Given the description of an element on the screen output the (x, y) to click on. 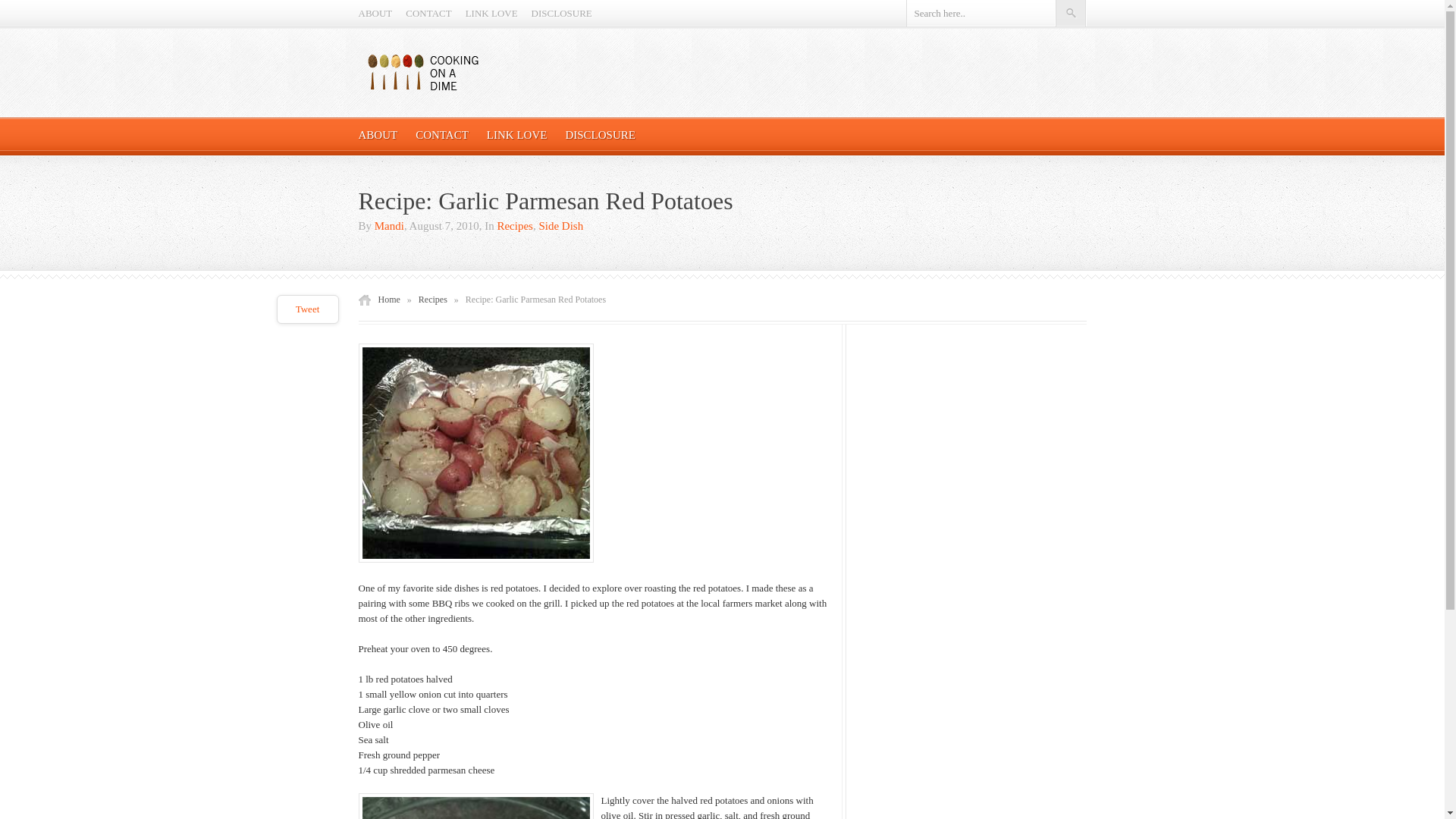
Recipes (514, 225)
garlic-red-potatoes (475, 806)
CONTACT (441, 134)
Search here.. (979, 13)
Home (387, 299)
Recipes (432, 299)
Tweet (307, 308)
ABOUT (374, 12)
Posts by Mandi (389, 225)
LINK LOVE (491, 12)
